Given the description of an element on the screen output the (x, y) to click on. 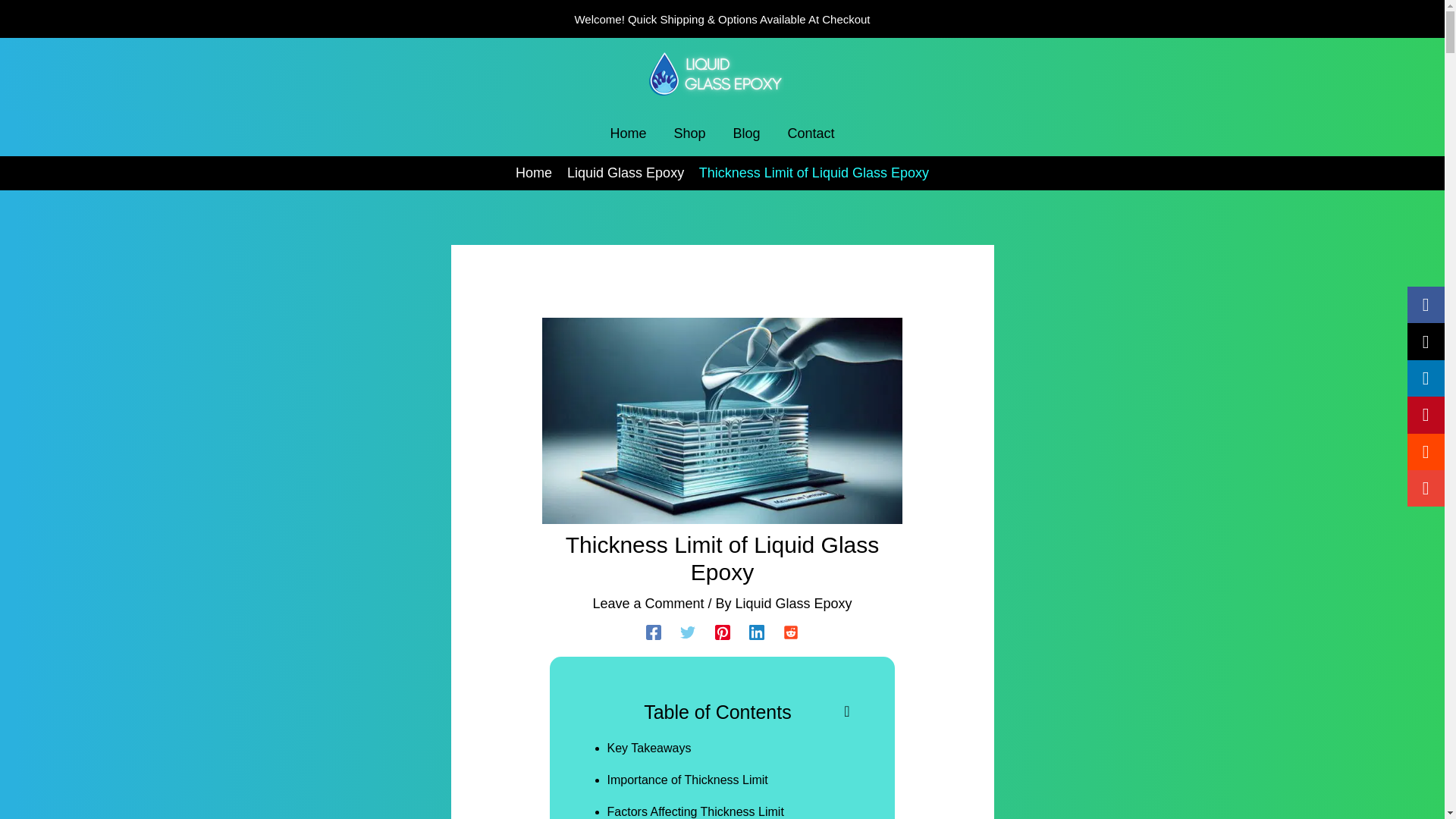
Shop (689, 133)
Home (533, 172)
Contact (811, 133)
Importance of Thickness Limit (687, 779)
Liquid Glass Epoxy (625, 172)
View all posts by Liquid Glass Epoxy (793, 603)
Liquid Glass Epoxy (793, 603)
Home (627, 133)
Key Takeaways (649, 748)
Blog (746, 133)
